Given the description of an element on the screen output the (x, y) to click on. 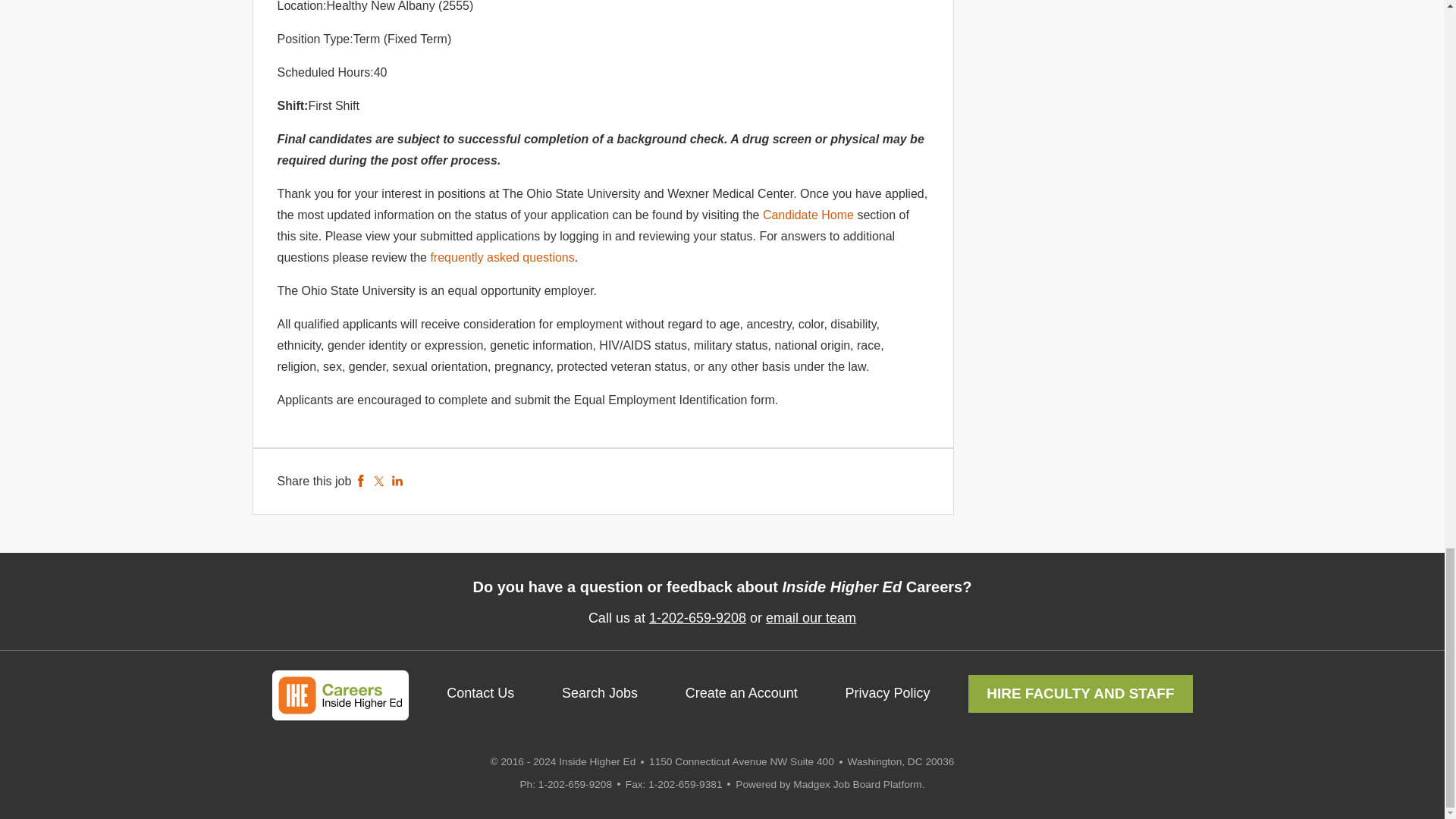
LinkedIn (397, 481)
Twitter (378, 481)
Facebook (360, 481)
Inside Higher Ed Careers (338, 695)
frequently asked questions (501, 256)
Candidate Home (807, 214)
